Given the description of an element on the screen output the (x, y) to click on. 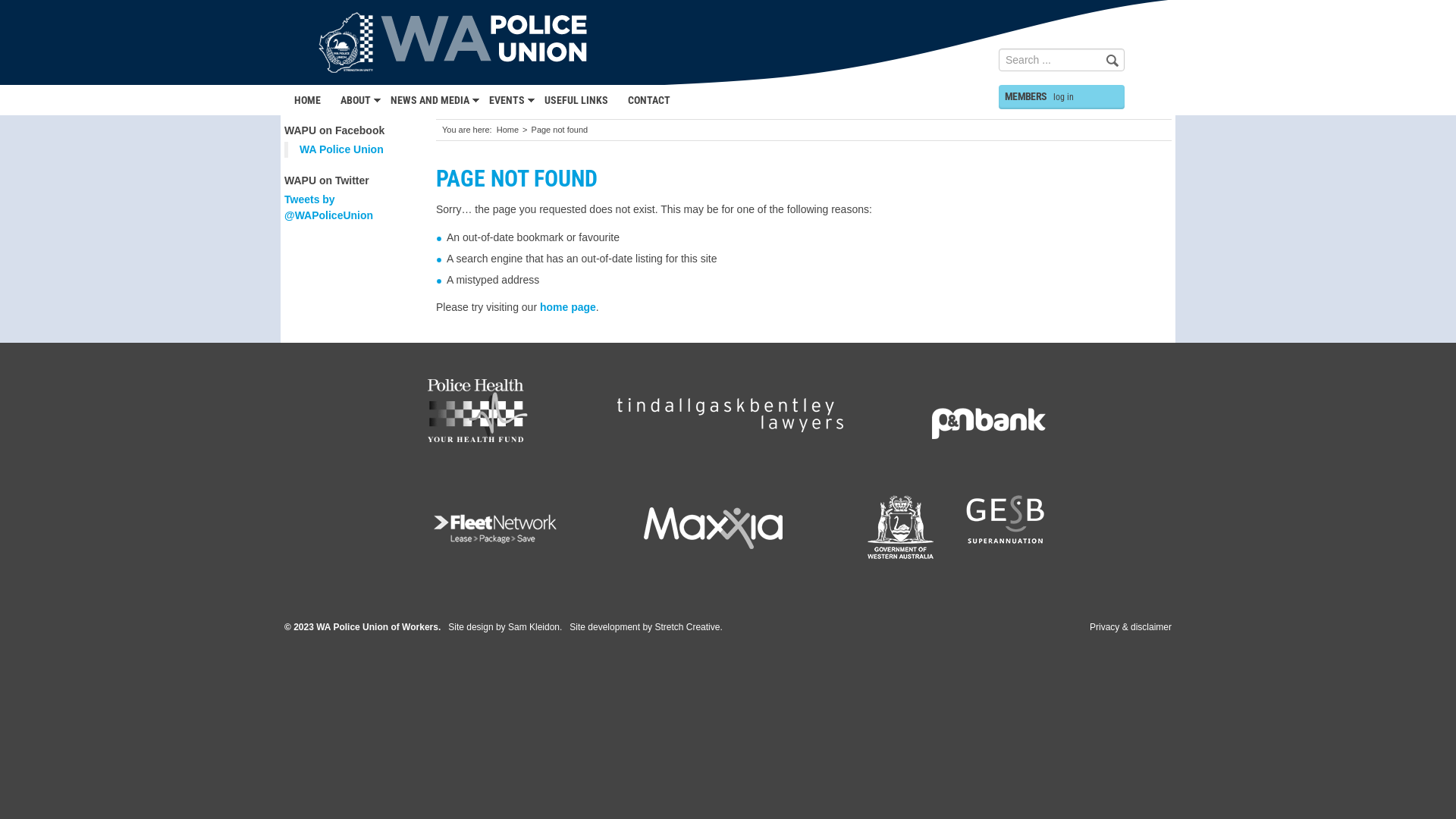
Visit https://pnbank.com.au/ Element type: hover (988, 411)
Sam Kleidon Element type: text (533, 627)
HOME Element type: text (307, 99)
Visit https://www.fleetnetwork.com.au/ Element type: hover (494, 526)
Home Element type: text (507, 129)
Stretch Creative Element type: text (686, 627)
WA Police Union Element type: text (341, 149)
CONTACT Element type: text (649, 99)
Visit https://www.maxxia.com.au/ Element type: hover (713, 526)
USEFUL LINKS Element type: text (576, 99)
Privacy & disclaimer Element type: text (1130, 626)
Visit https://www.policehealth.com.au/ Element type: hover (478, 411)
Tweets by @WAPoliceUnion Element type: text (328, 207)
Visit https://www.tgb.com.au/ Element type: hover (730, 411)
Visit https://www.gesb.wa.gov.au/ Element type: hover (955, 526)
log in Element type: text (1063, 97)
home page Element type: text (567, 307)
